Given the description of an element on the screen output the (x, y) to click on. 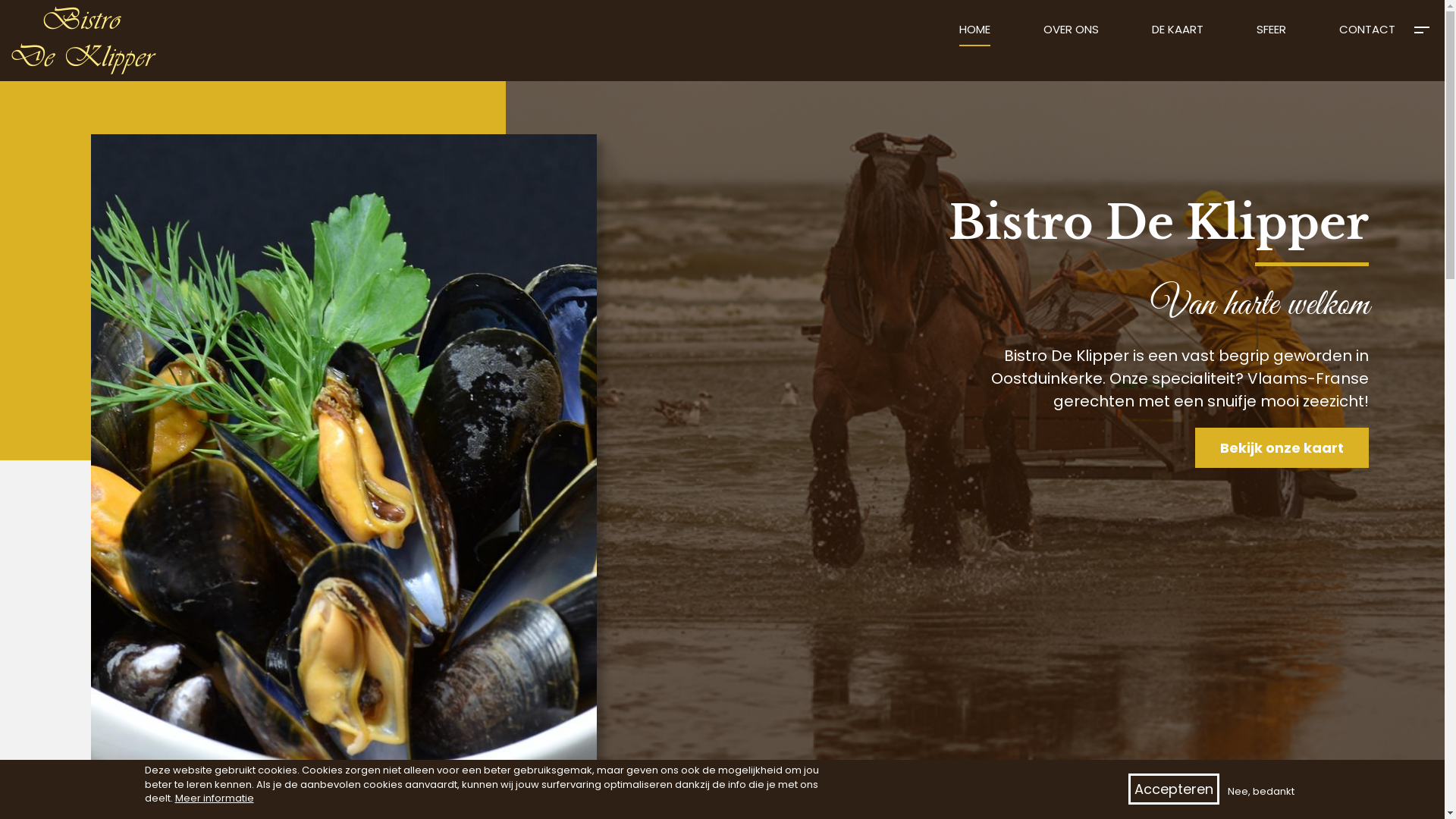
Bistro De Klipper - Oostduinkerke Element type: text (0, 0)
CONTACT Element type: text (1367, 33)
Nee, bedankt Element type: text (1259, 791)
Meer informatie Element type: text (213, 798)
Accepteren Element type: text (1173, 789)
DE KAART Element type: text (1177, 33)
Bekijk onze kaart Element type: text (1281, 447)
SFEER Element type: text (1271, 33)
OVER ONS Element type: text (1070, 33)
HOME Element type: text (974, 33)
Home Element type: hover (89, 40)
